Given the description of an element on the screen output the (x, y) to click on. 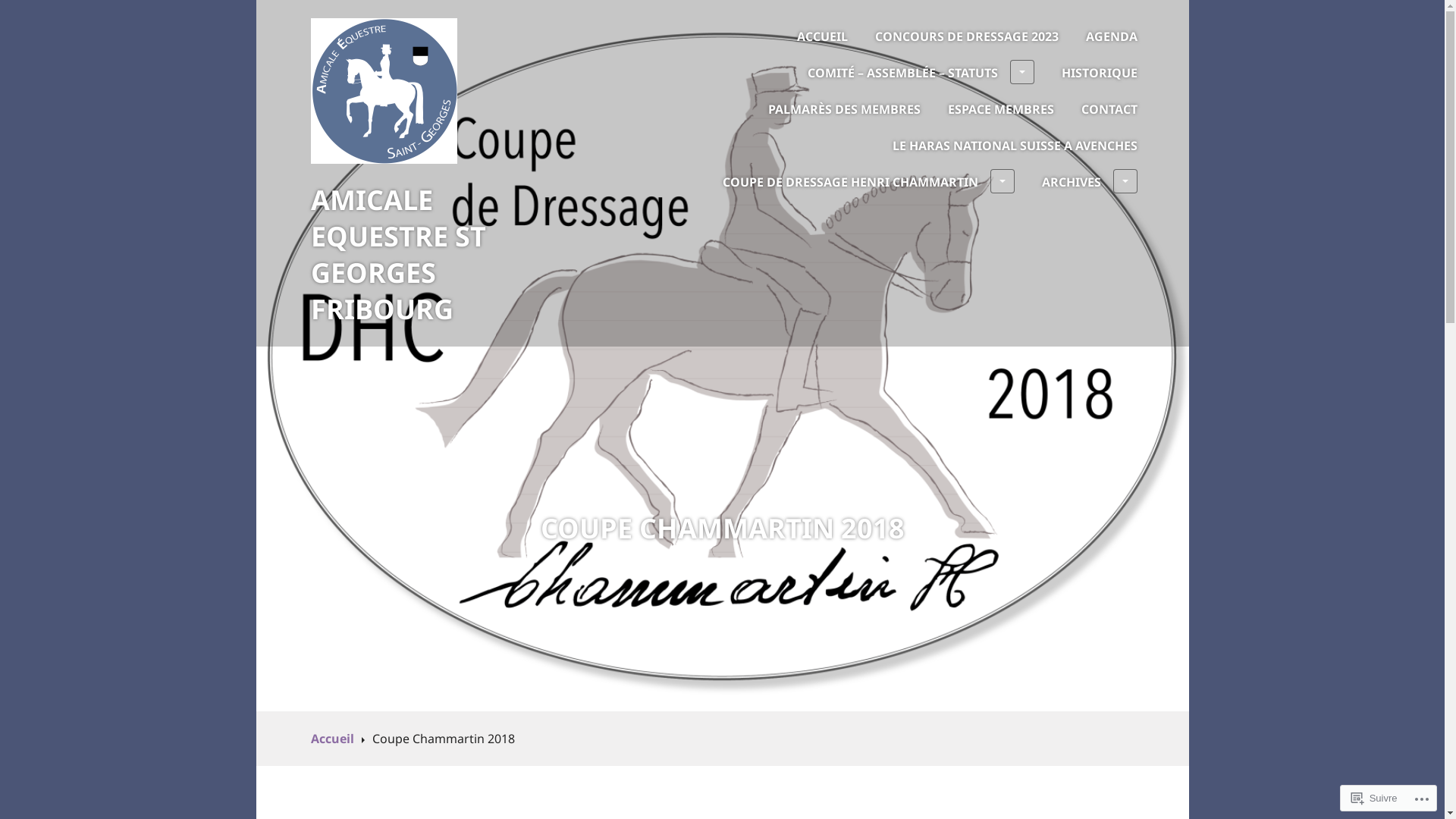
CONCOURS DE DRESSAGE 2023 Element type: text (966, 36)
ACCUEIL Element type: text (821, 36)
Accueil Element type: text (337, 738)
AGENDA Element type: text (1111, 36)
ARCHIVES Element type: text (1089, 181)
CONTACT Element type: text (1109, 109)
LE HARAS NATIONAL SUISSE A AVENCHES Element type: text (1013, 145)
Suivre Element type: text (1374, 797)
HISTORIQUE Element type: text (1099, 72)
COUPE DE DRESSAGE HENRI CHAMMARTIN Element type: text (867, 181)
ESPACE MEMBRES Element type: text (1000, 109)
AMICALE EQUESTRE ST GEORGES FRIBOURG Element type: text (398, 254)
